Given the description of an element on the screen output the (x, y) to click on. 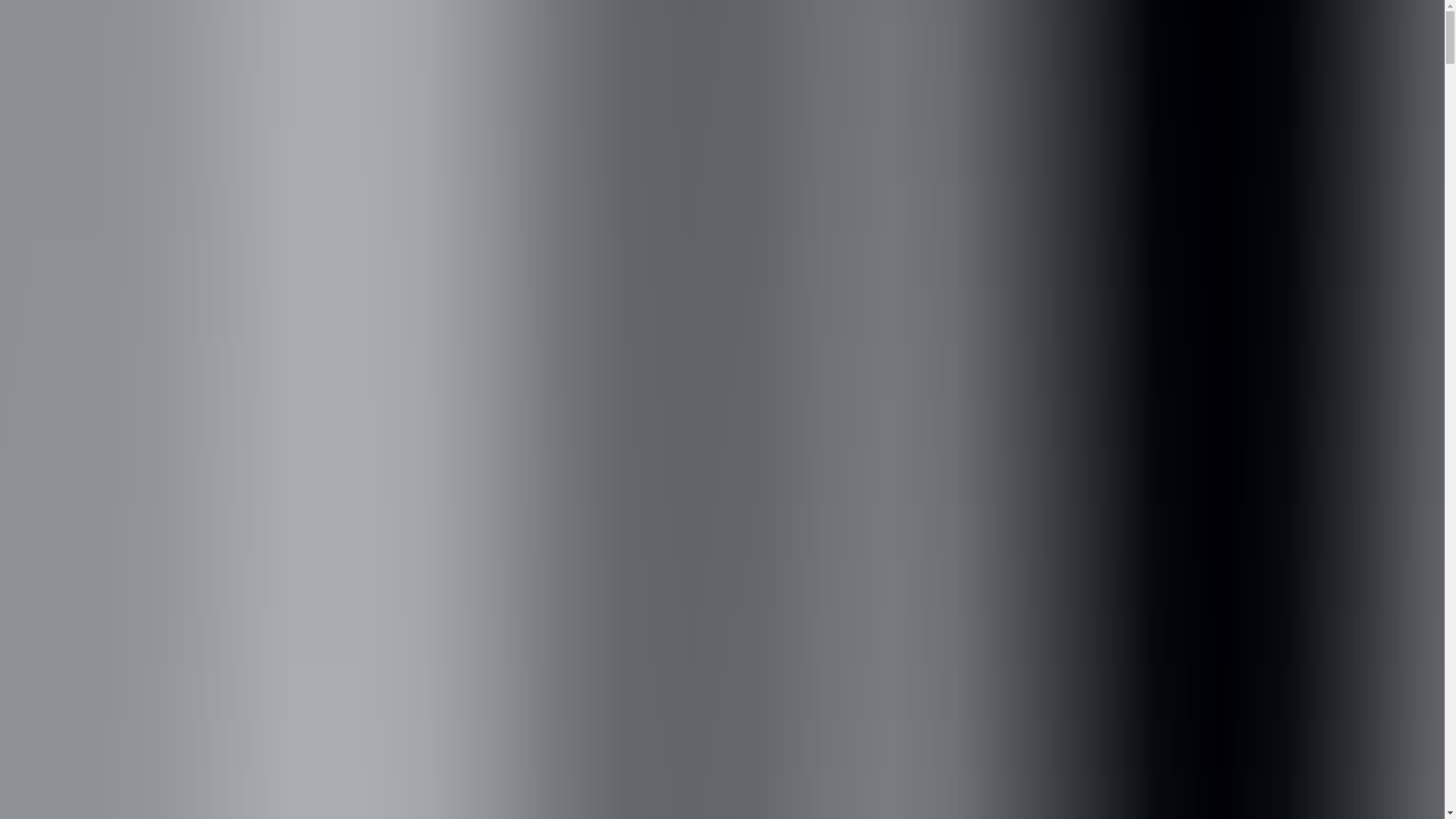
Studio (82, 50)
Projects (29, 50)
